Given the description of an element on the screen output the (x, y) to click on. 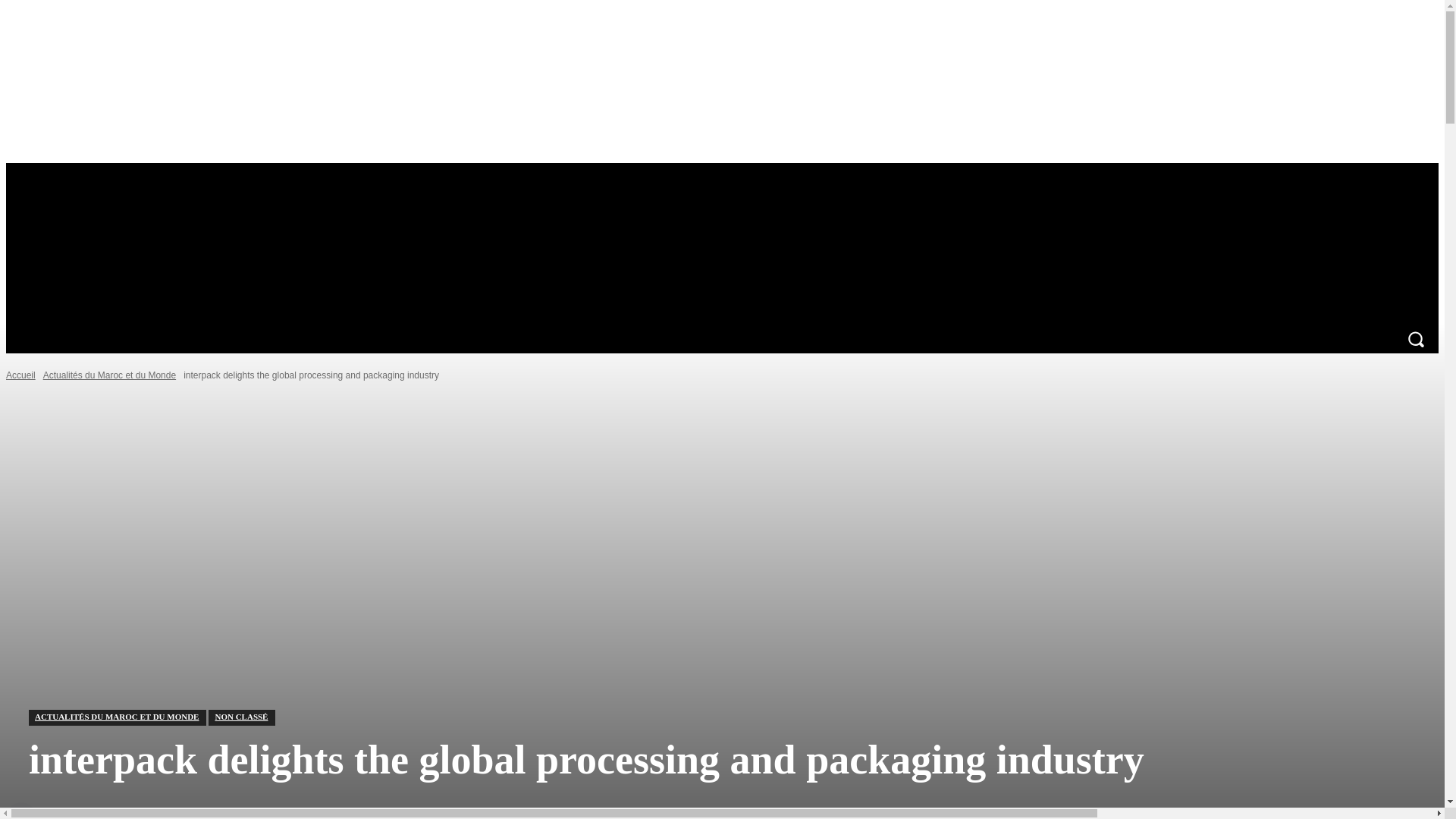
Meryem KORCH (22, 810)
Accueil (19, 375)
